Given the description of an element on the screen output the (x, y) to click on. 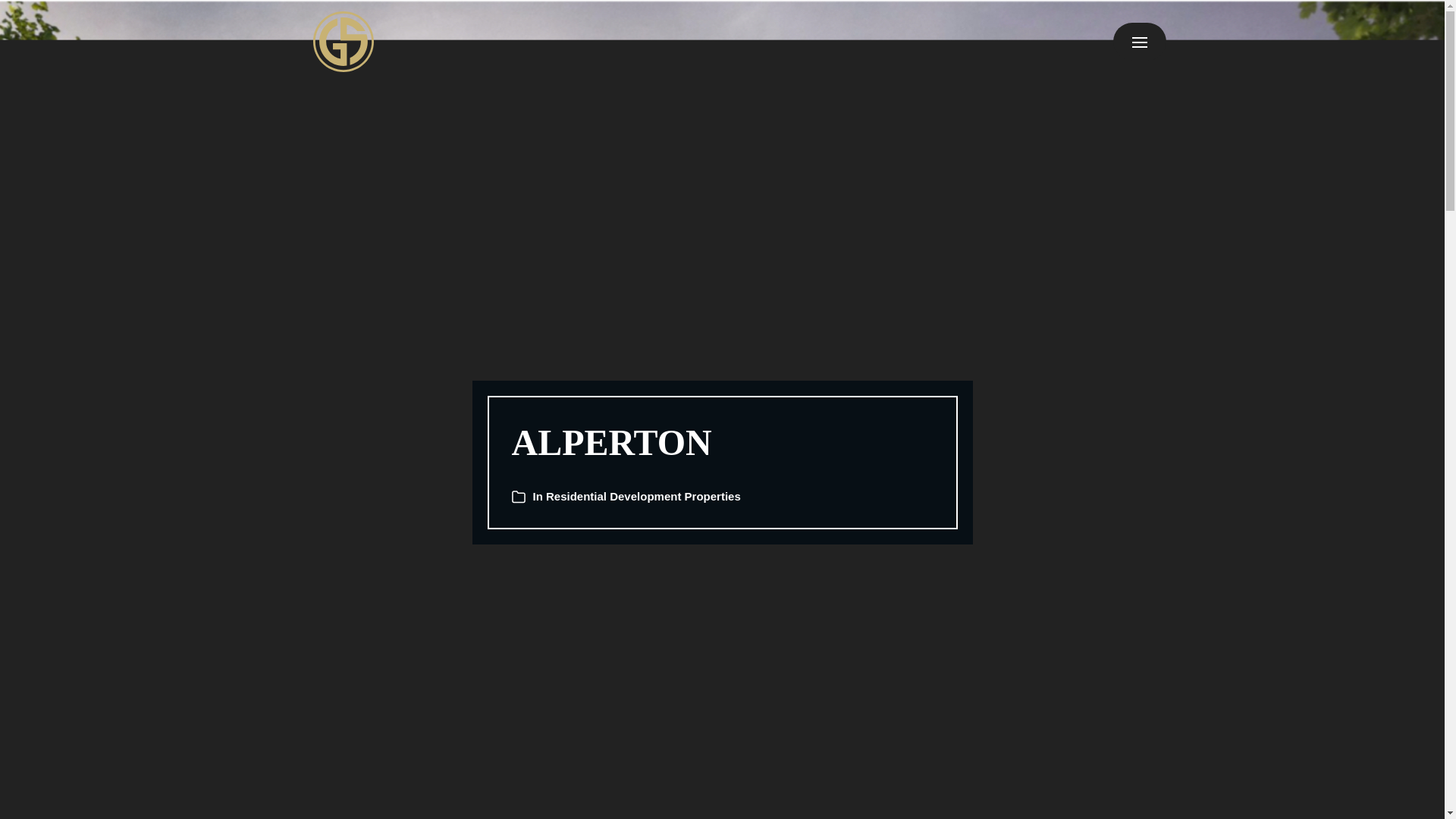
Residential Development Properties (643, 495)
